Given the description of an element on the screen output the (x, y) to click on. 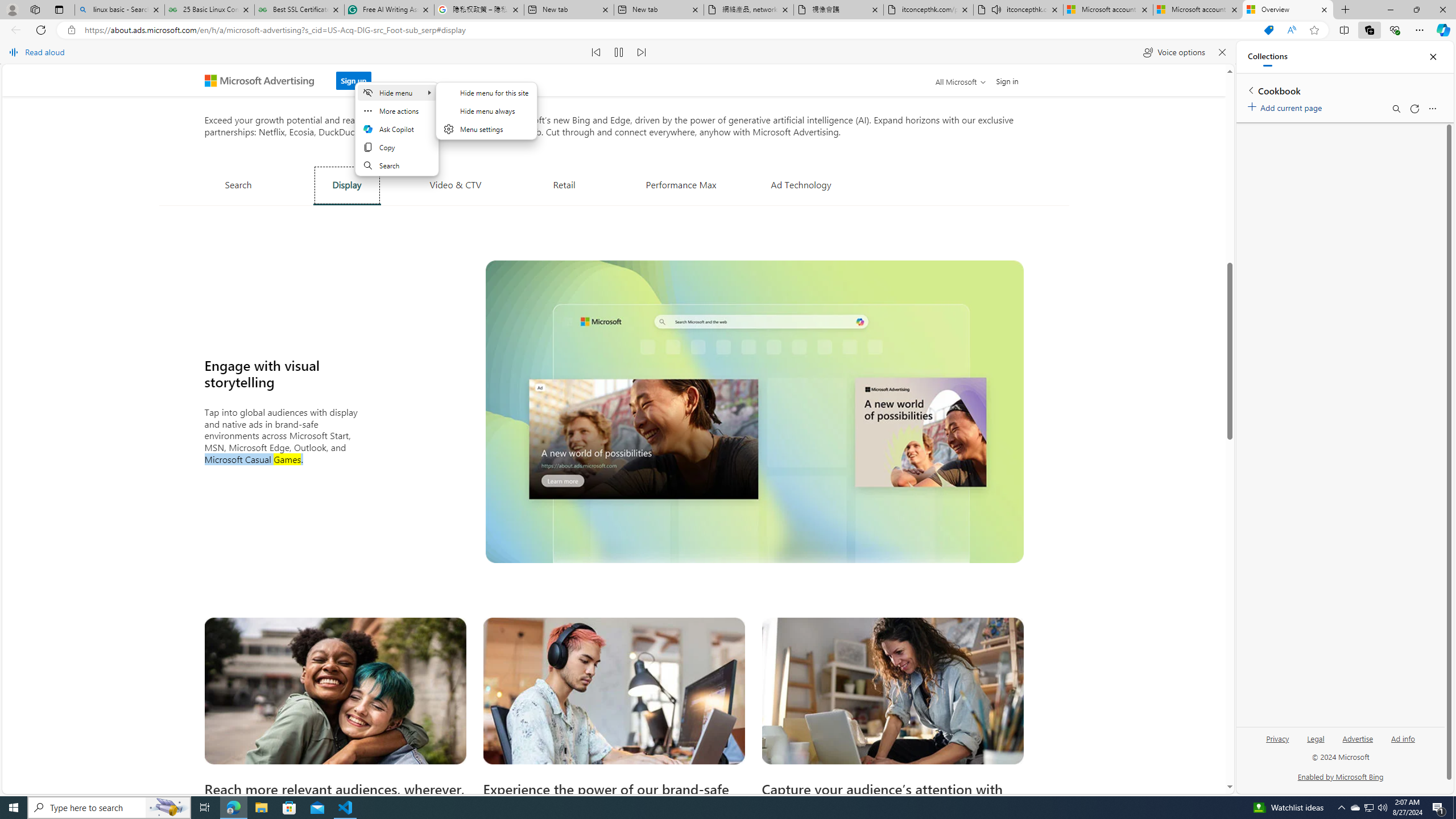
The MSN homepage showing Display and Native Ads. (753, 411)
Menu settings (486, 129)
More actions (396, 110)
Voice options (1174, 52)
Mini menu on text selection (396, 129)
Hide menu (396, 92)
itconcepthk.com/projector_solutions.mp4 - Audio playing (1018, 9)
